Given the description of an element on the screen output the (x, y) to click on. 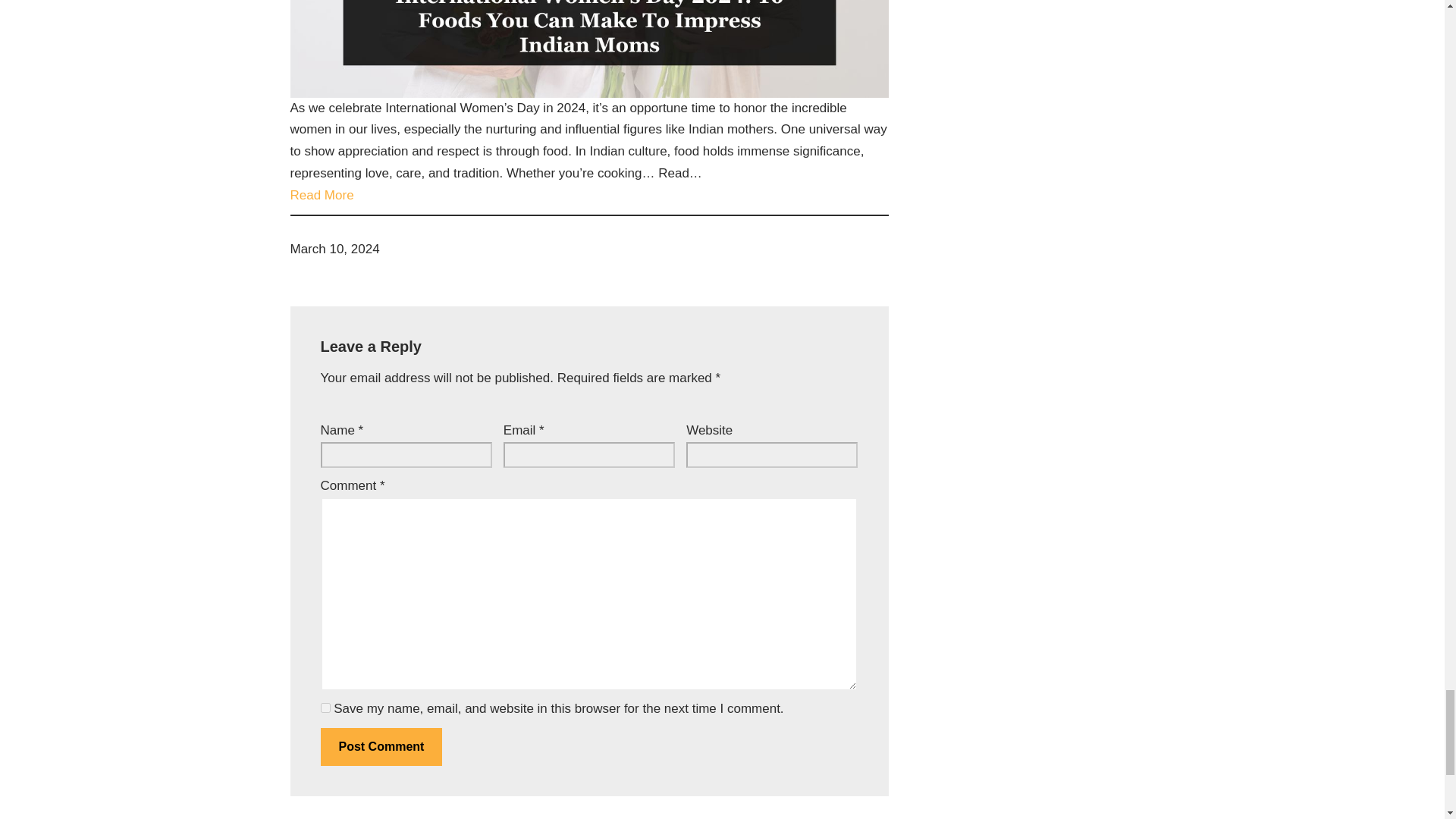
Read More (321, 196)
Post Comment (381, 746)
yes (325, 707)
Post Comment (381, 746)
